Given the description of an element on the screen output the (x, y) to click on. 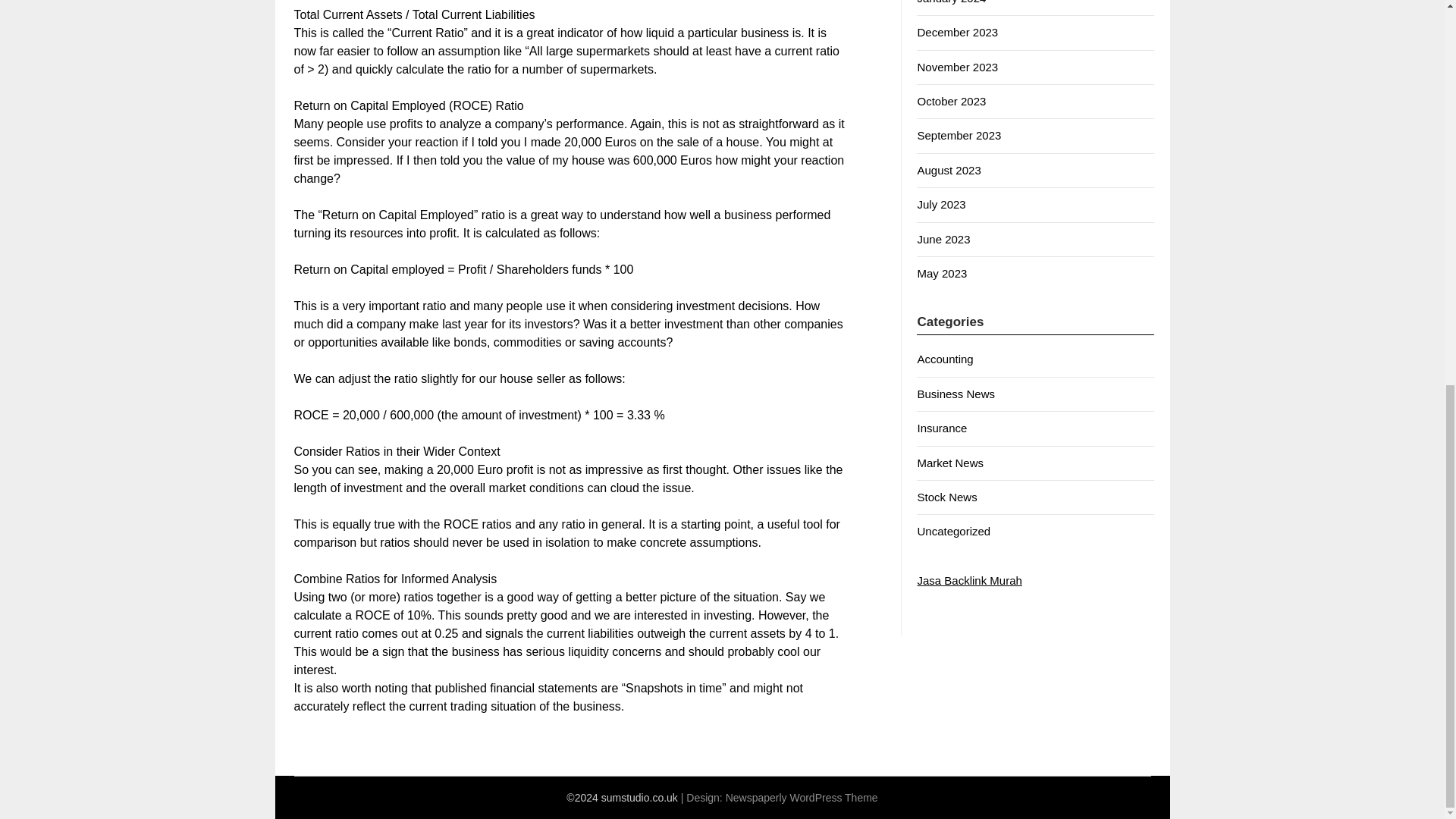
December 2023 (957, 31)
Accounting (944, 358)
July 2023 (941, 204)
May 2023 (941, 273)
September 2023 (959, 134)
Market News (950, 462)
October 2023 (951, 101)
November 2023 (957, 66)
June 2023 (943, 238)
January 2024 (951, 2)
Business News (955, 393)
Insurance (941, 427)
August 2023 (948, 169)
